Given the description of an element on the screen output the (x, y) to click on. 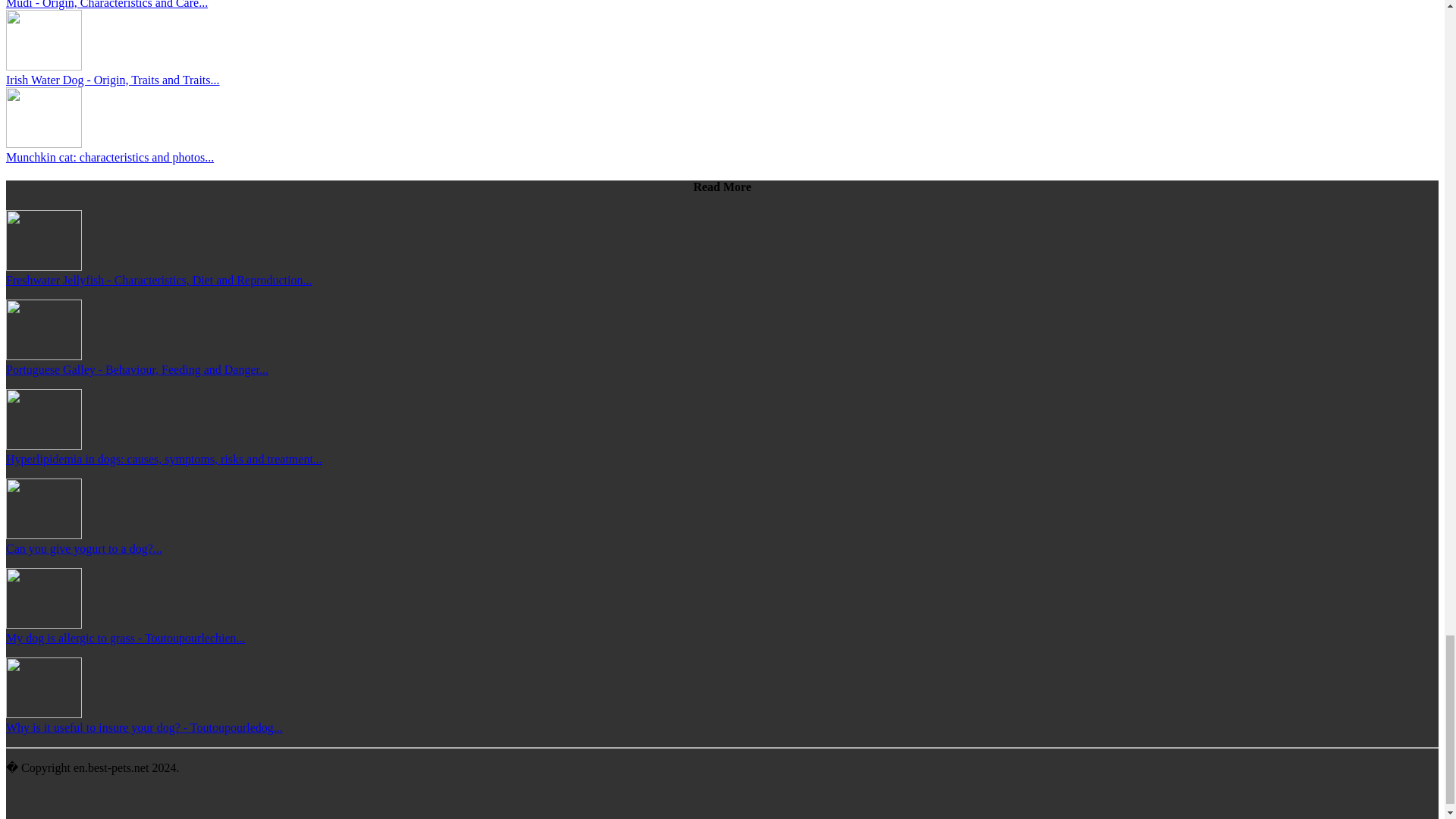
Mudi - Origin, Characteristics and Care... (106, 4)
